Given the description of an element on the screen output the (x, y) to click on. 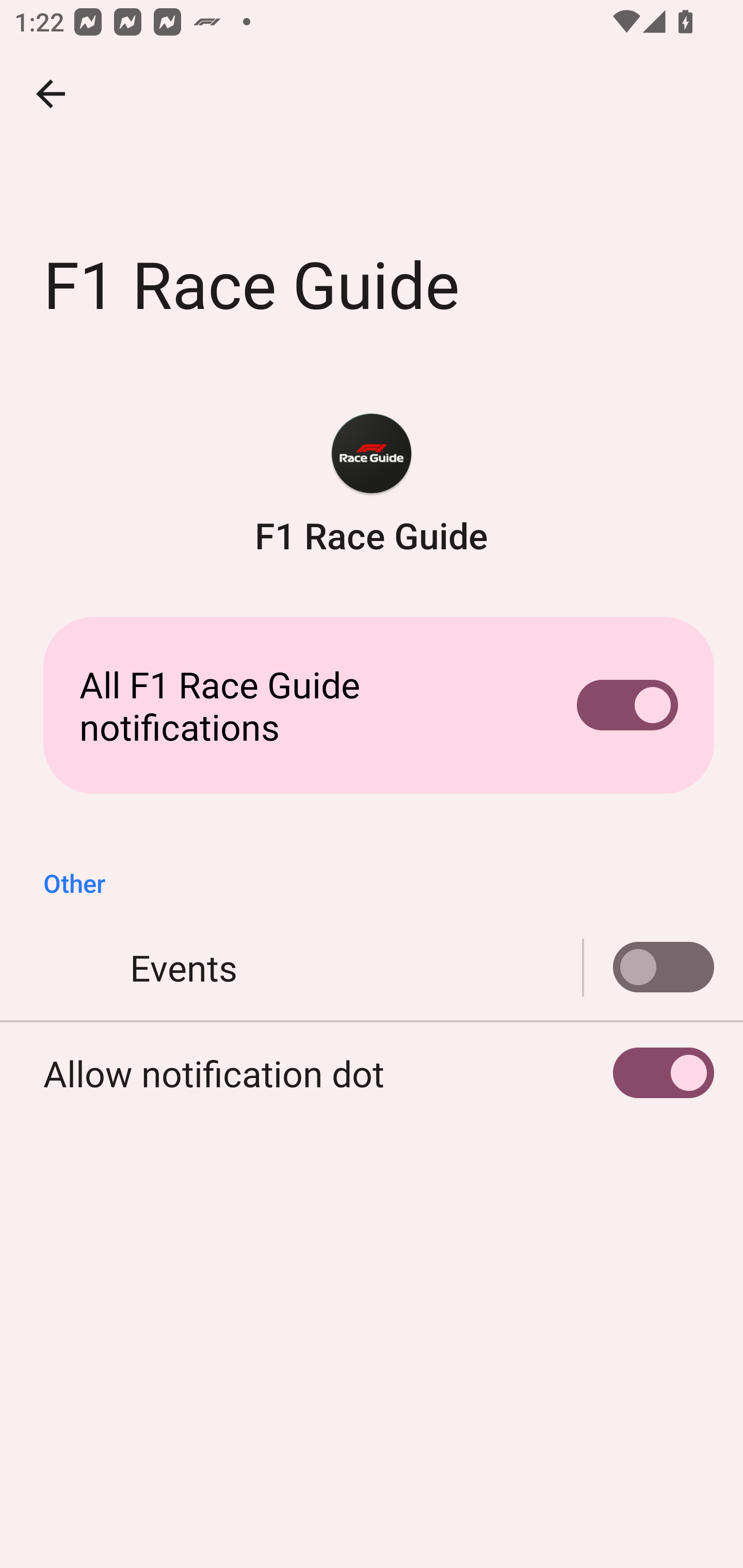
Navigate up (50, 93)
F1 Race Guide (371, 484)
All F1 Race Guide notifications (371, 705)
Events (371, 967)
Events (648, 967)
Allow notification dot (371, 1072)
